Given the description of an element on the screen output the (x, y) to click on. 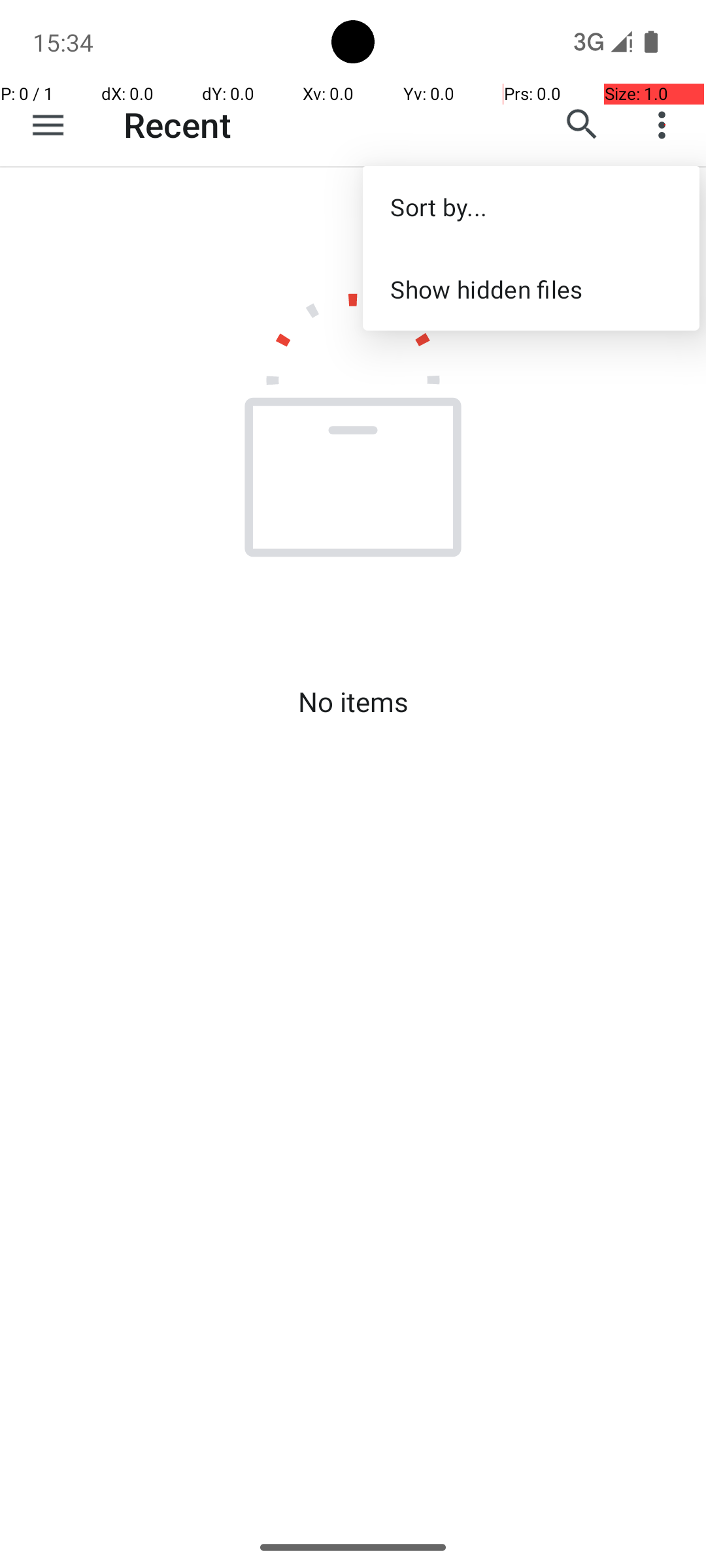
Sort by... Element type: android.widget.TextView (531, 206)
Show hidden files Element type: android.widget.TextView (531, 288)
